Given the description of an element on the screen output the (x, y) to click on. 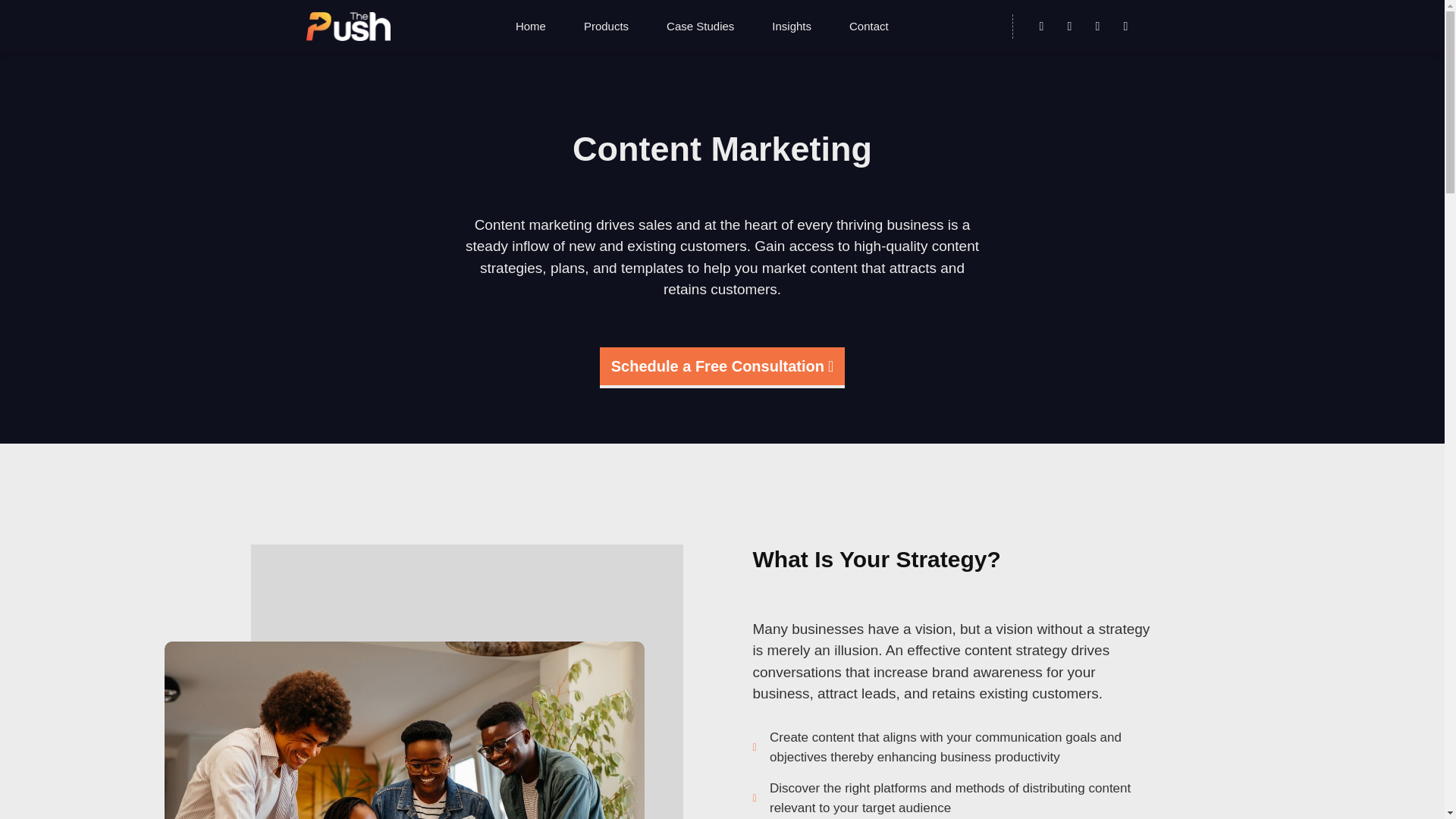
Case Studies (699, 26)
Home (530, 26)
Products (605, 26)
Schedule a Free Consultation (721, 367)
Contact (868, 26)
Insights (790, 26)
